Given the description of an element on the screen output the (x, y) to click on. 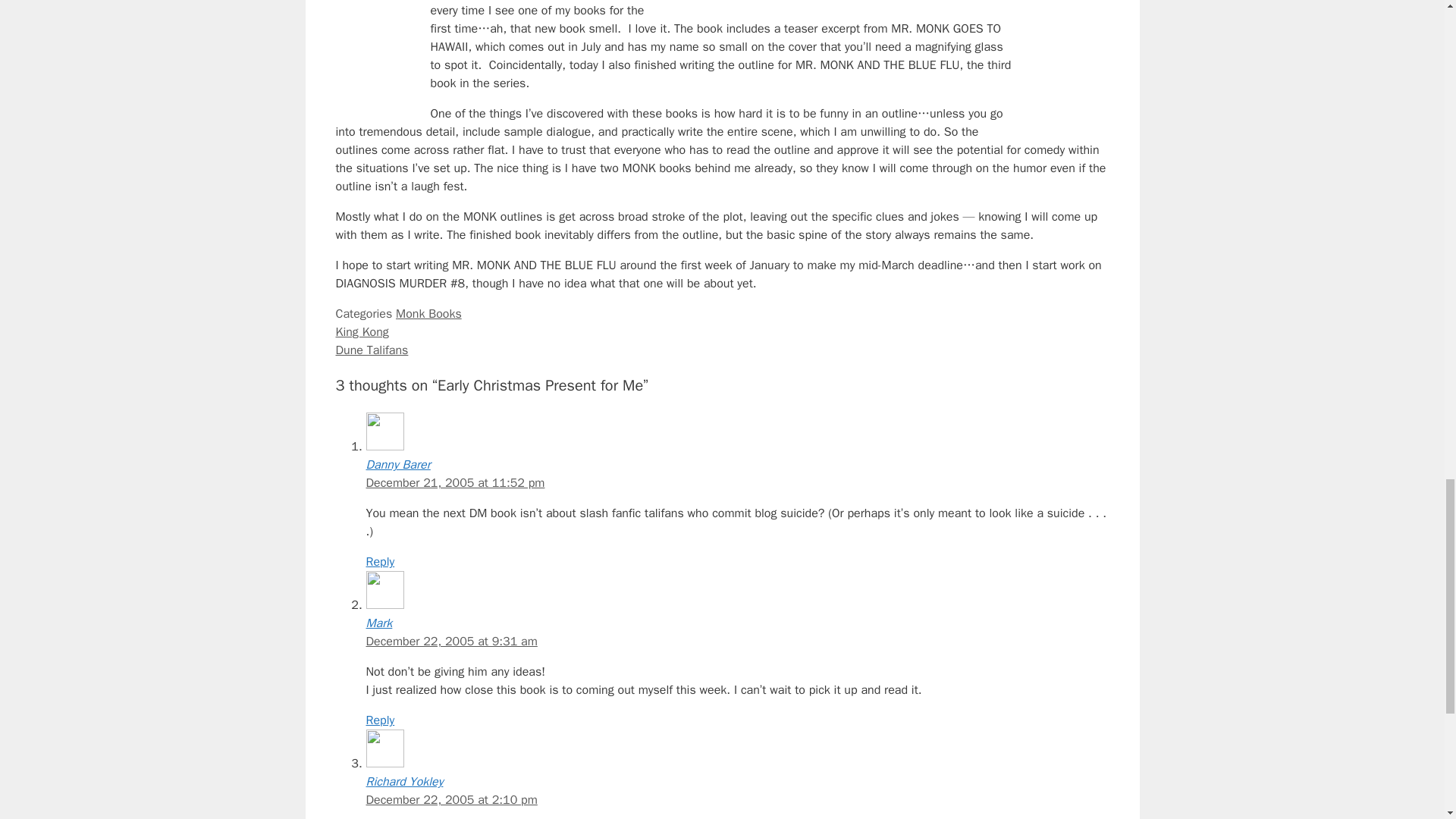
King Kong (361, 331)
Monk Books (428, 313)
